Given the description of an element on the screen output the (x, y) to click on. 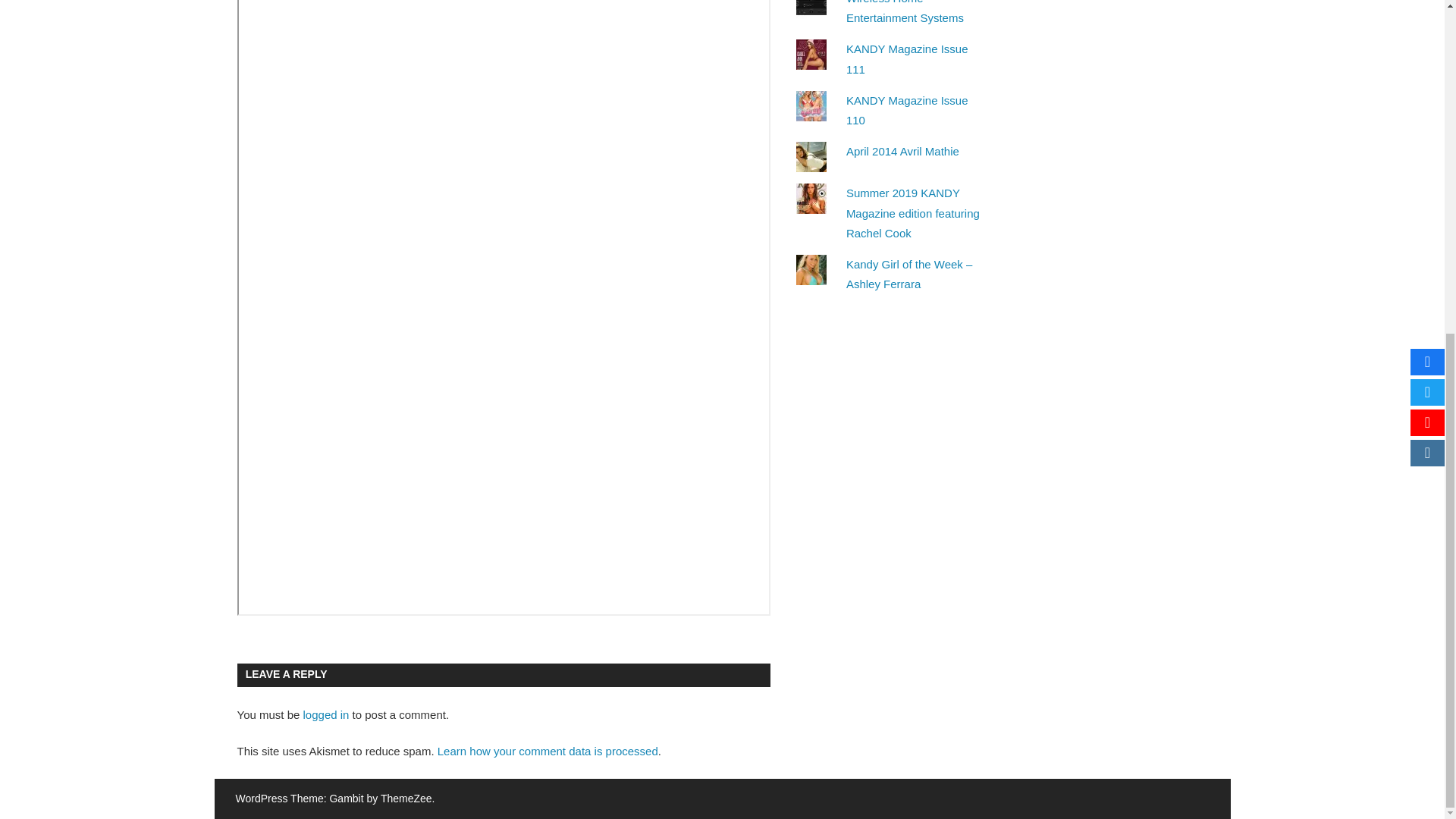
Wireless Home Entertainment Systems (904, 12)
KANDY Magazine Issue 111 (906, 58)
KANDY Magazine Issue 110 (906, 110)
KANDY Magazine Issue 111 (906, 58)
Summer 2019 KANDY Magazine edition featuring Rachel Cook (912, 212)
KANDY Magazine Issue 110 (906, 110)
Learn how your comment data is processed (548, 750)
logged in (325, 714)
Wireless Home Entertainment Systems (904, 12)
April 2014 Avril Mathie (902, 151)
